Given the description of an element on the screen output the (x, y) to click on. 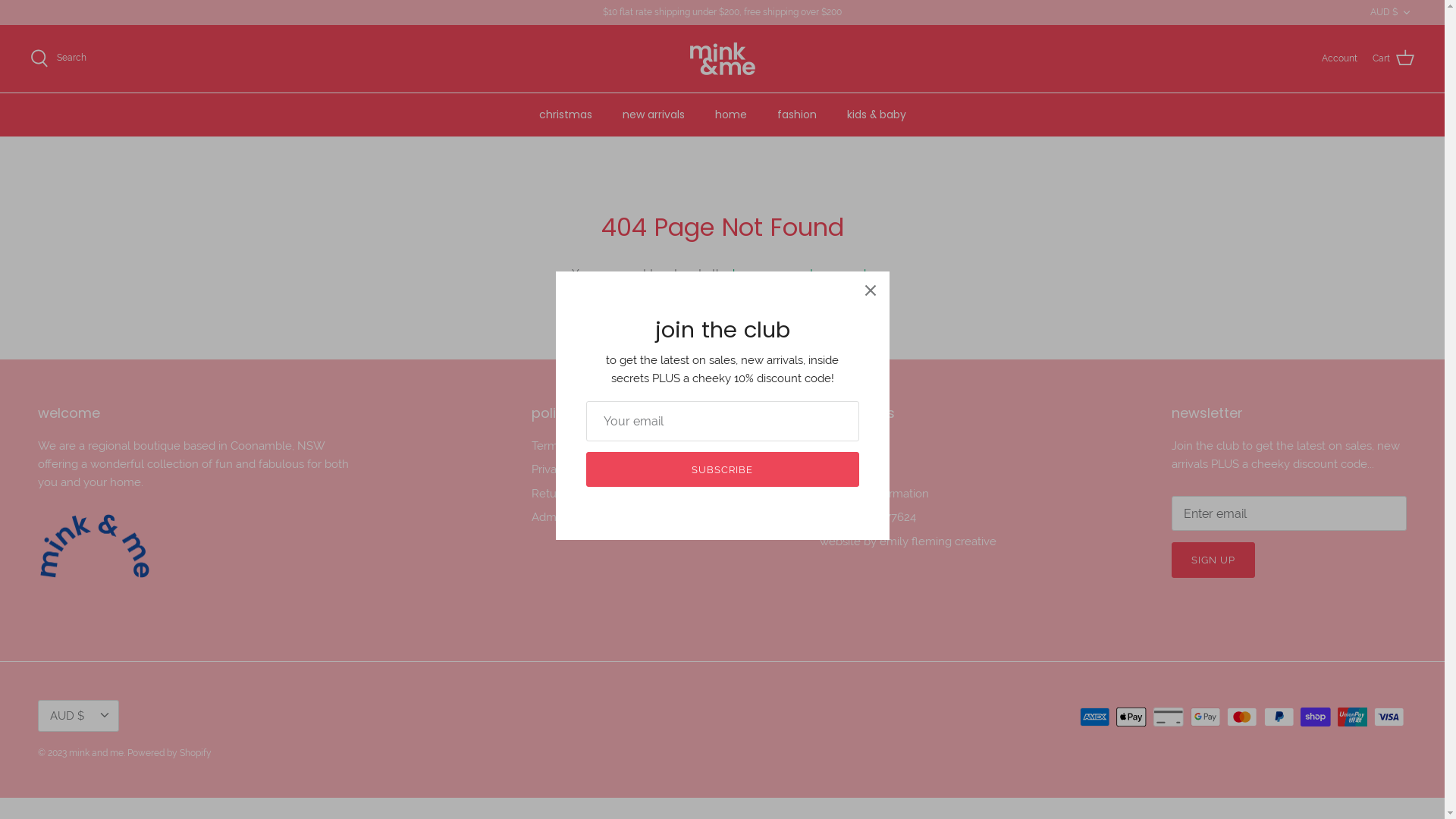
SIGN UP Element type: text (1213, 559)
mink and me Element type: hover (722, 58)
Search Element type: text (837, 445)
ABN: 46221277624 Element type: text (867, 517)
try a search Element type: text (839, 273)
Powered by Shopify Element type: text (169, 752)
Cart Element type: text (1393, 58)
website by emily fleming creative Element type: text (907, 541)
mink and me Element type: text (96, 752)
Account Element type: text (1339, 58)
Shipping Information Element type: text (873, 493)
Privacy Policy Element type: text (566, 469)
home page Element type: text (762, 273)
fashion Element type: text (795, 114)
Admin Element type: text (548, 517)
AUD $
Down Element type: text (78, 715)
christmas Element type: text (564, 114)
Returns & Exchanges Element type: text (587, 493)
Terms & Conditions Element type: text (581, 445)
AUD $
Down Element type: text (1392, 12)
home Element type: text (729, 114)
SUBSCRIBE Element type: text (721, 468)
Search Element type: text (58, 58)
new arrivals Element type: text (652, 114)
kids & baby Element type: text (875, 114)
$10 flat rate shipping under $200, free shipping over $200 Element type: text (721, 12)
Contact Us Element type: text (848, 469)
